Given the description of an element on the screen output the (x, y) to click on. 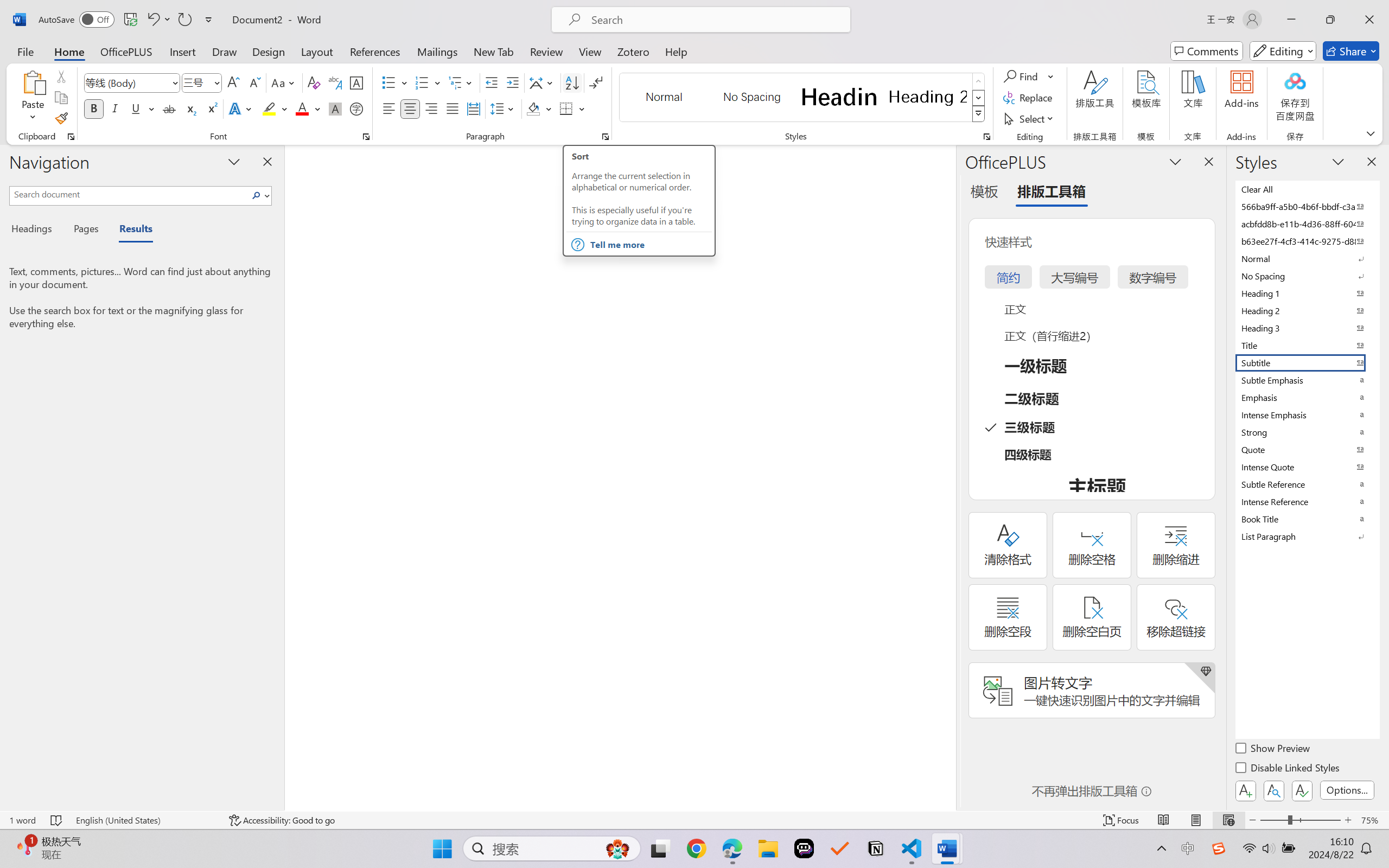
Replace... (1029, 97)
Italic (115, 108)
Pages (85, 229)
Underline (135, 108)
Zotero (632, 51)
Text Highlight Color (274, 108)
Restore Down (1330, 19)
Undo Style (152, 19)
Open (215, 82)
